Given the description of an element on the screen output the (x, y) to click on. 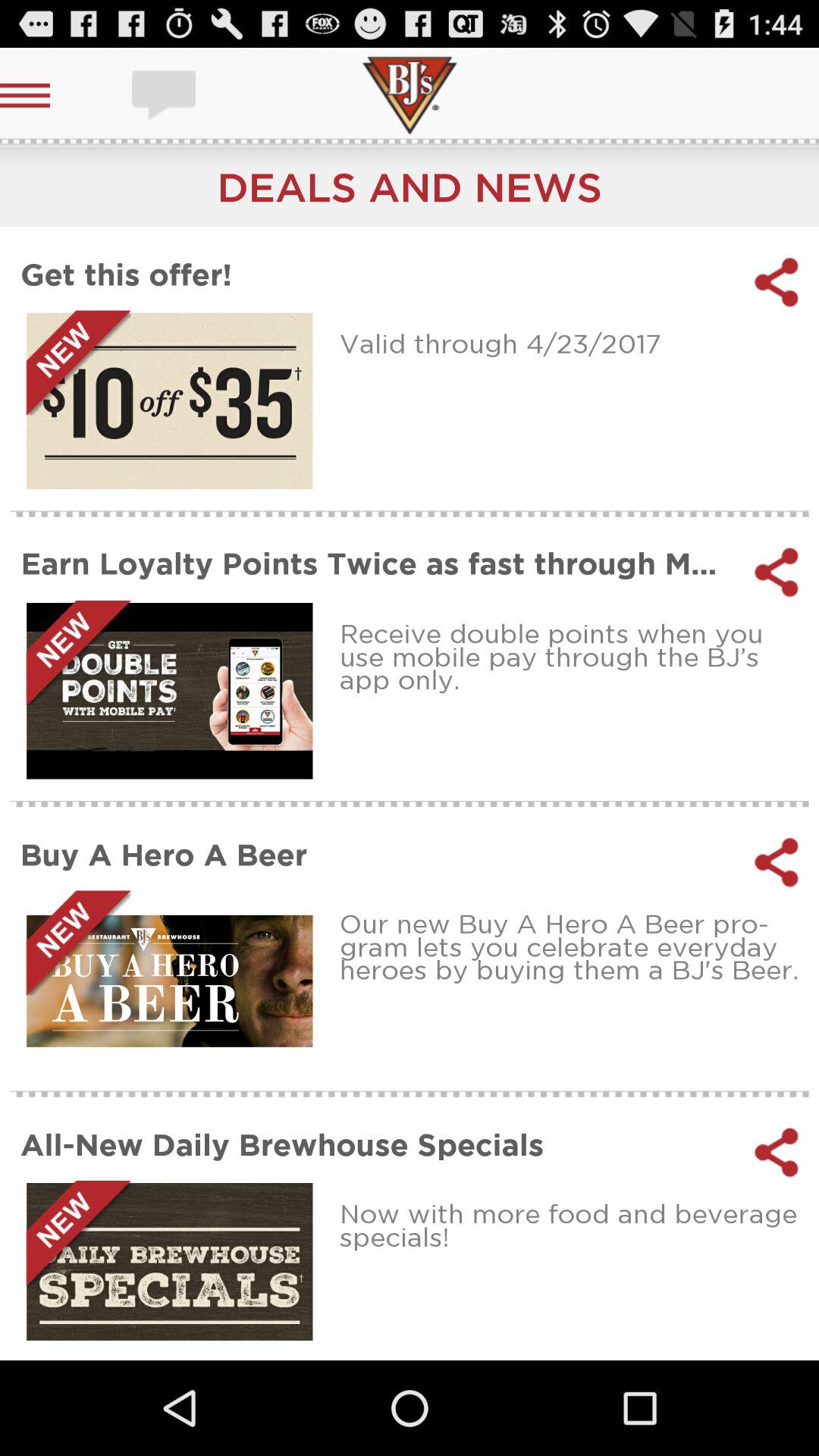
click in more options offer (169, 400)
